Given the description of an element on the screen output the (x, y) to click on. 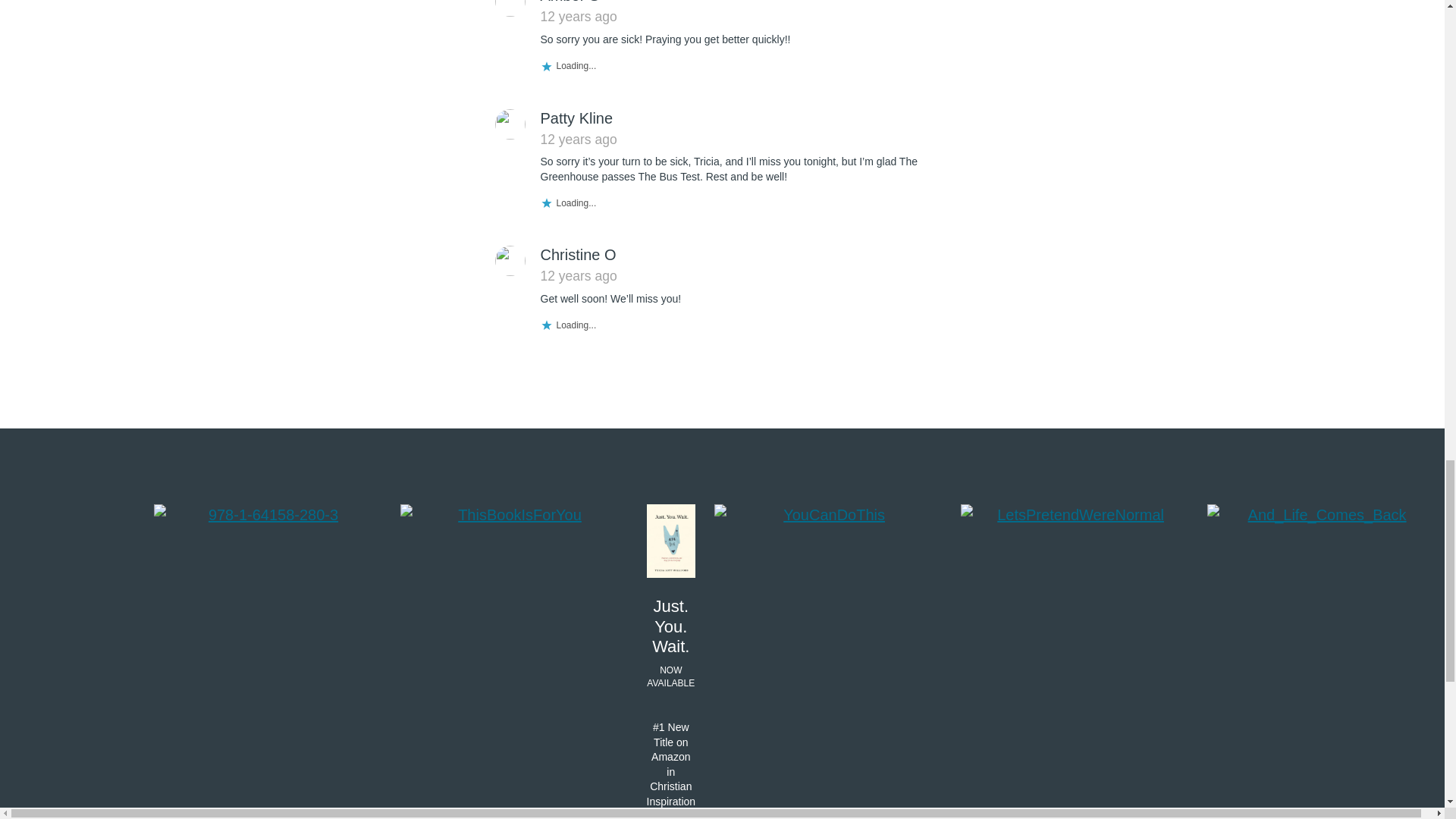
November 8, 2012 (577, 139)
November 8, 2012 (577, 275)
November 9, 2012 (577, 16)
